Given the description of an element on the screen output the (x, y) to click on. 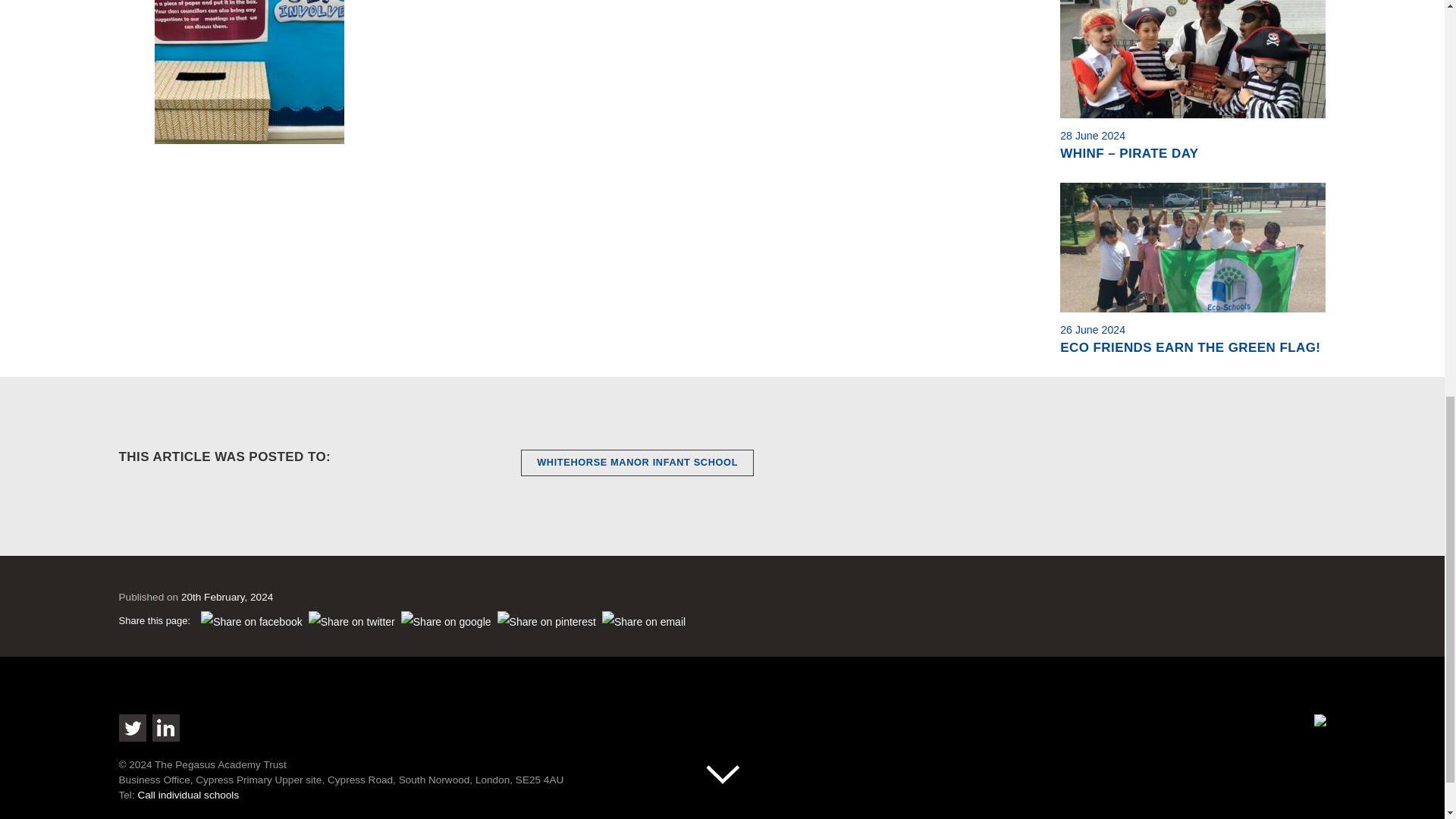
google (446, 621)
email (643, 621)
facebook (251, 621)
twitter (351, 621)
pinterest (546, 621)
